Given the description of an element on the screen output the (x, y) to click on. 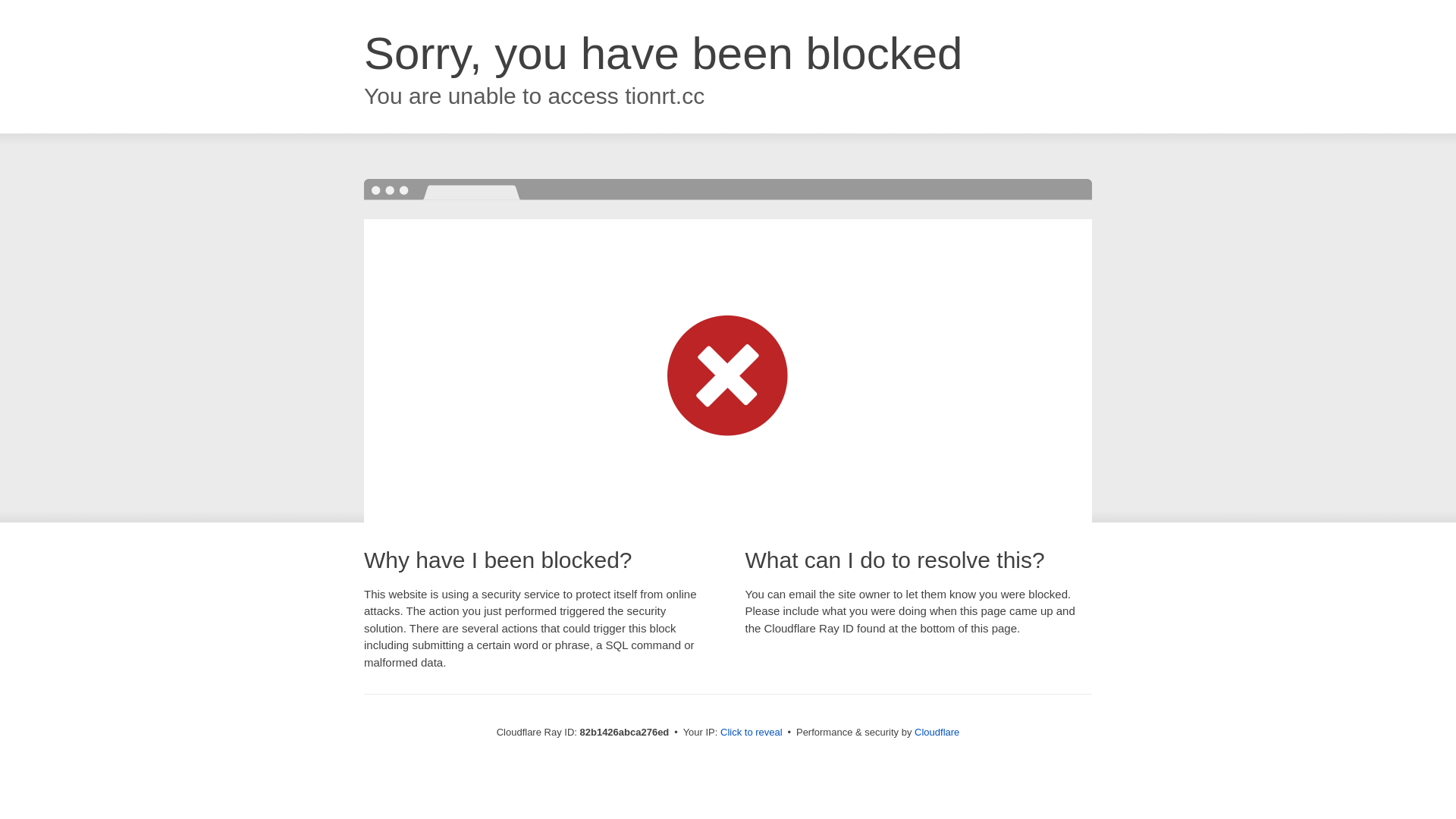
Cloudflare Element type: text (936, 731)
Click to reveal Element type: text (751, 732)
